Given the description of an element on the screen output the (x, y) to click on. 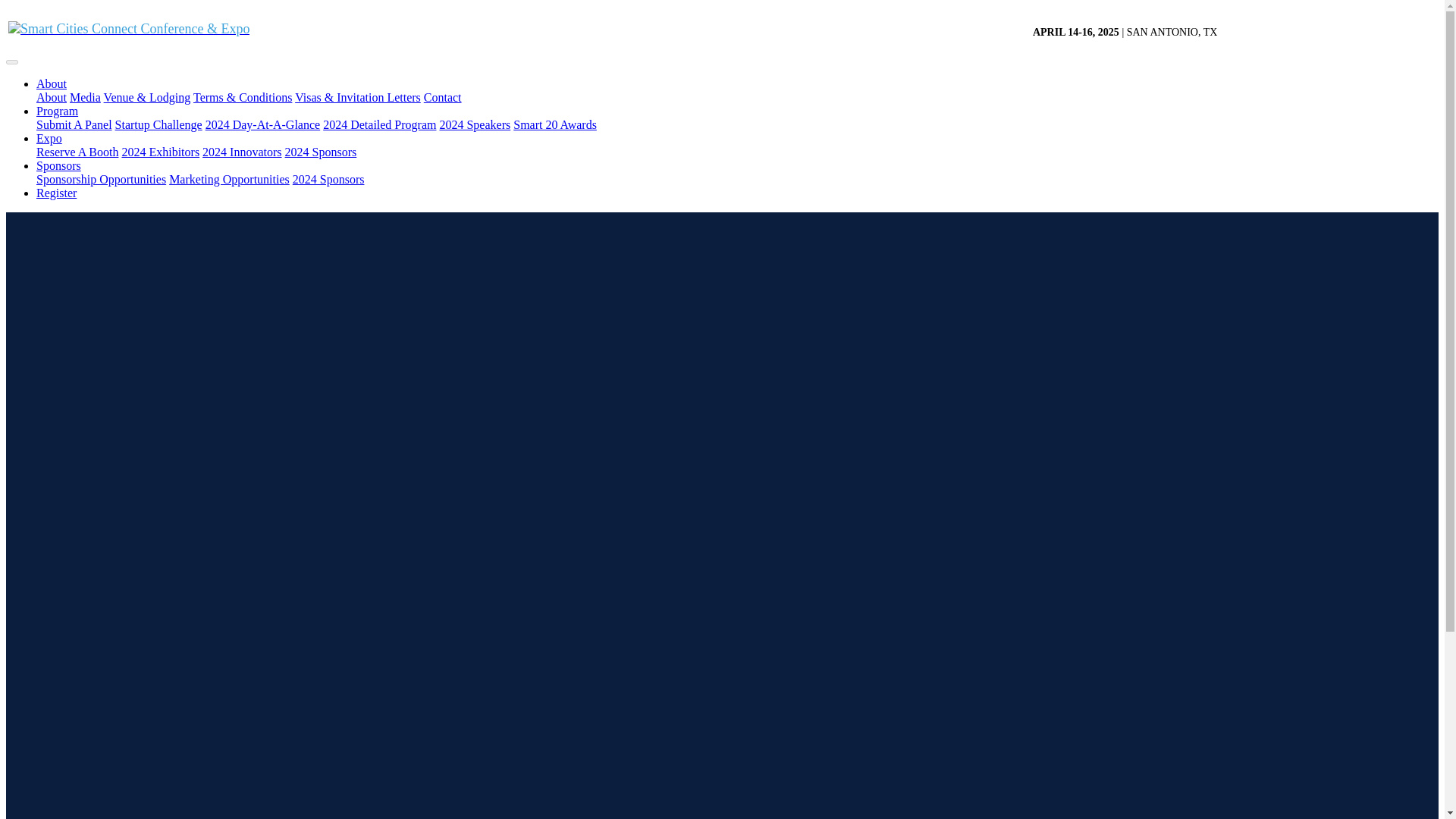
Marketing Opportunities (228, 178)
Sponsors (58, 164)
Register (56, 192)
Media (84, 97)
Sponsorship Opportunities (100, 178)
2024 Speakers (475, 124)
Startup Challenge (158, 124)
2024 Detailed Program (379, 124)
Program (57, 110)
Smart 20 Awards (554, 124)
Reserve A Booth (76, 151)
Expo (49, 137)
Submit A Panel (74, 124)
About (51, 97)
About (51, 83)
